Given the description of an element on the screen output the (x, y) to click on. 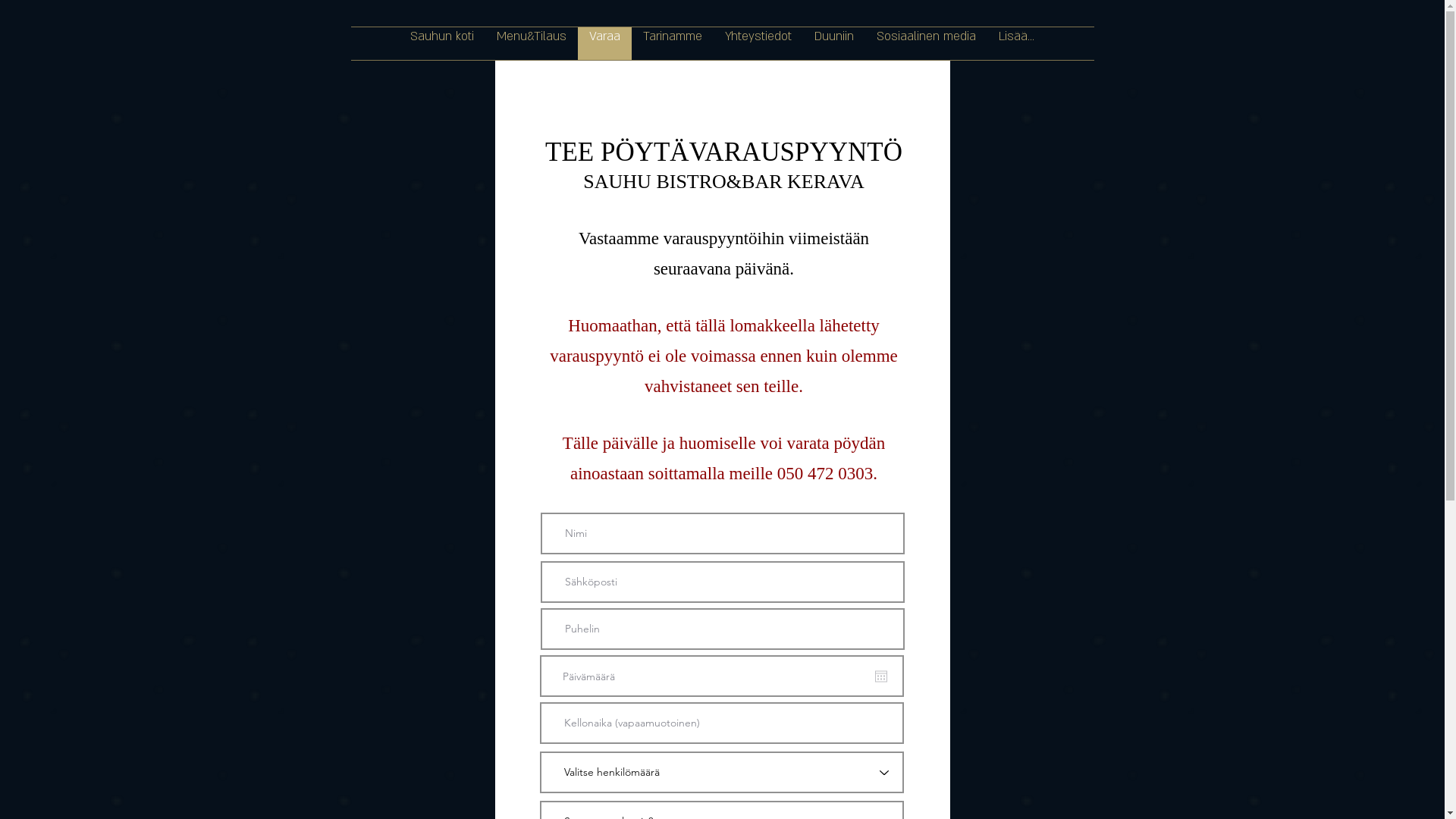
Sauhun koti Element type: text (441, 43)
Menu&Tilaus Element type: text (531, 43)
Sosiaalinen media Element type: text (926, 43)
Tarinamme Element type: text (672, 43)
Yhteystiedot Element type: text (758, 43)
Duuniin Element type: text (834, 43)
Varaa Element type: text (604, 43)
